Given the description of an element on the screen output the (x, y) to click on. 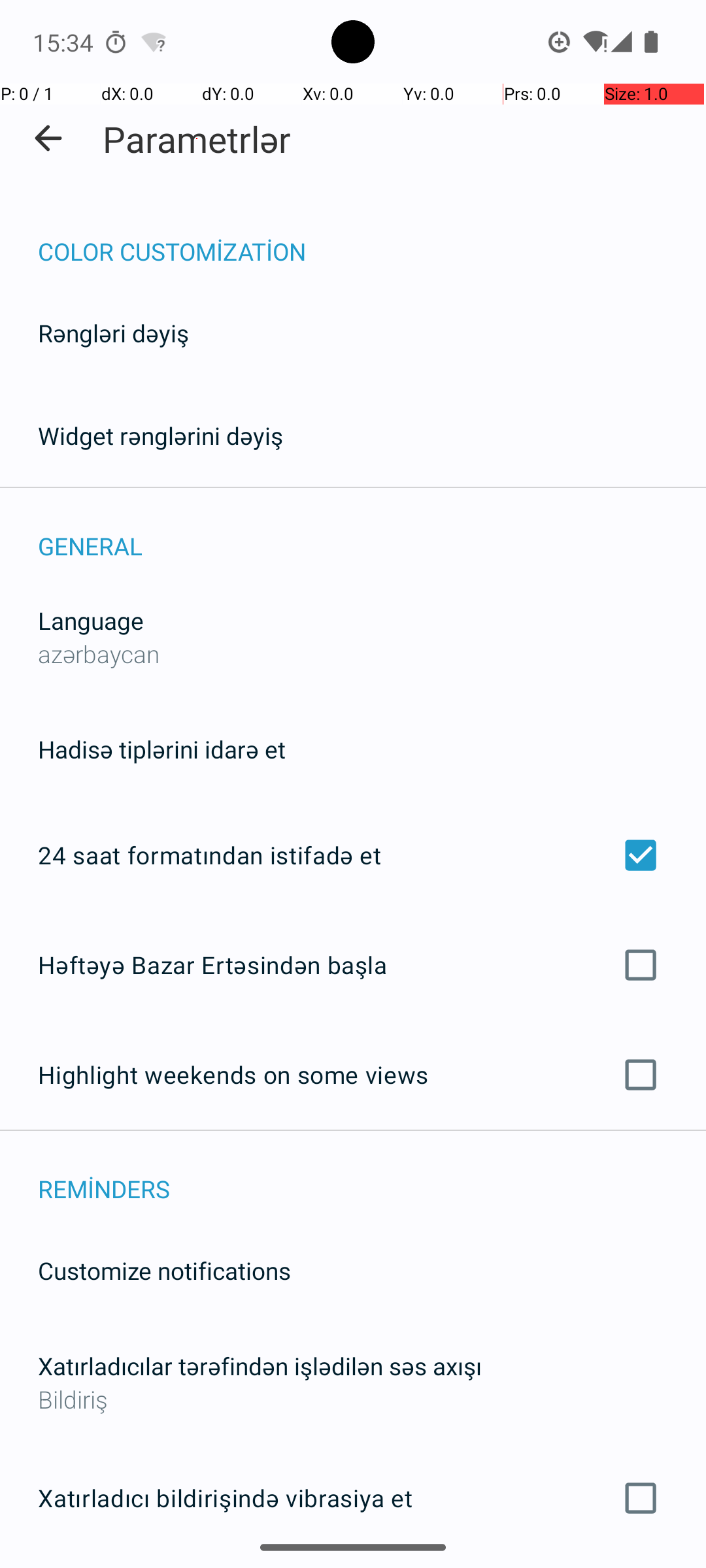
Parametrlər Element type: android.widget.TextView (196, 138)
COLOR CUSTOMİZATİON Element type: android.widget.TextView (371, 237)
REMİNDERS Element type: android.widget.TextView (371, 1174)
Rəngləri dəyiş Element type: android.widget.TextView (122, 350)
Widget rənglərini dəyiş Element type: android.widget.TextView (160, 435)
azərbaycan Element type: android.widget.TextView (98, 653)
Hadisə tiplərini idarə et Element type: android.widget.TextView (161, 748)
24 saat formatından istifadə et Element type: android.widget.CheckBox (352, 855)
Həftəyə Bazar Ertəsindən başla Element type: android.widget.CheckBox (352, 964)
Xatırladıcılar tərəfindən işlədilən səs axışı Element type: android.widget.TextView (259, 1365)
Bildiriş Element type: android.widget.TextView (352, 1398)
Xatırladıcı bildirişində vibrasiya et Element type: android.widget.CheckBox (352, 1497)
Buraxılana qədər xatırladıcıları təkrarla Element type: android.widget.CheckBox (352, 1567)
